Given the description of an element on the screen output the (x, y) to click on. 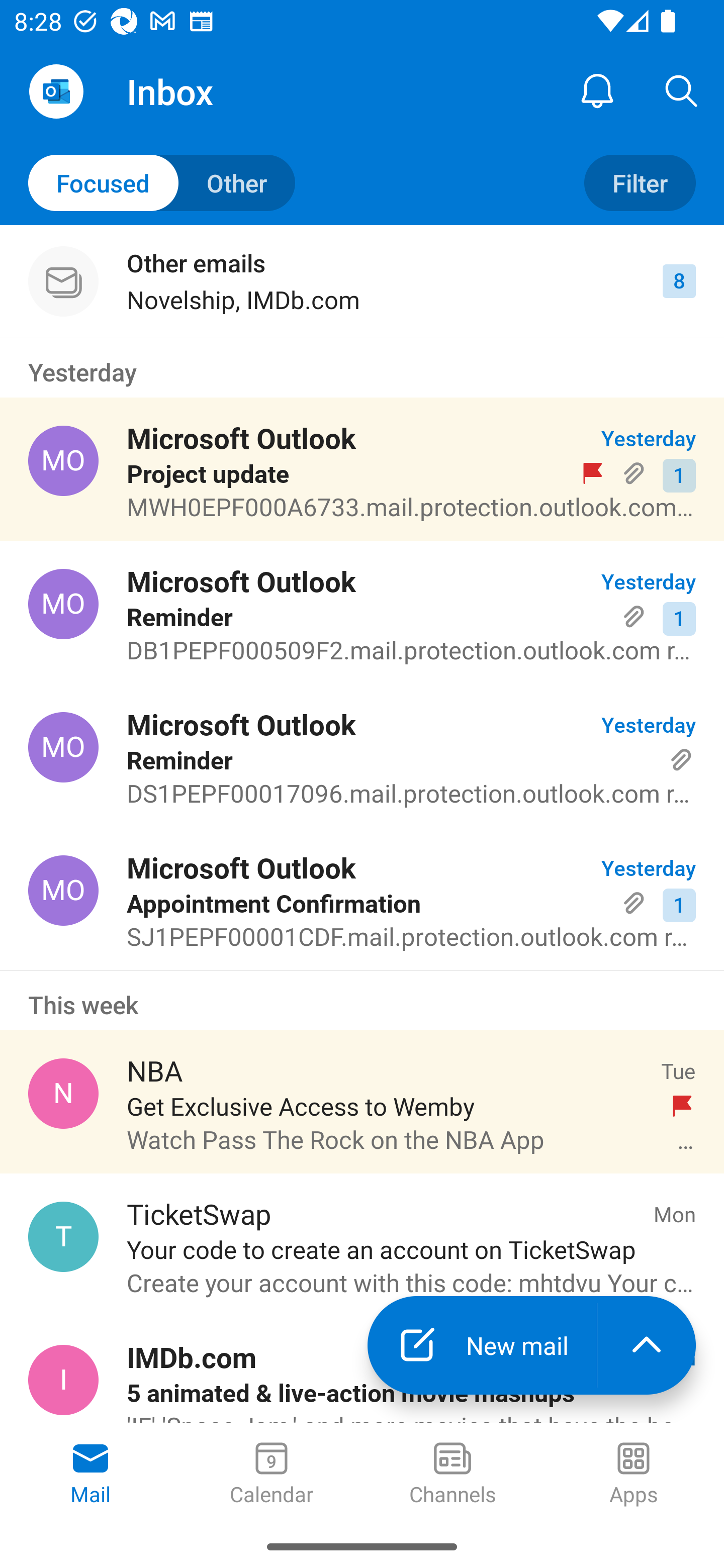
Notification Center (597, 90)
Search, ,  (681, 90)
Open Navigation Drawer (55, 91)
Toggle to other mails (161, 183)
Filter (639, 183)
Other emails Novelship, IMDb.com 8 (362, 281)
NBA, NBA@email.nba.com (63, 1093)
TicketSwap, info@ticketswap.com (63, 1236)
New mail (481, 1344)
launch the extended action menu (646, 1344)
IMDb.com, do-not-reply@imdb.com (63, 1380)
Calendar (271, 1474)
Channels (452, 1474)
Apps (633, 1474)
